Given the description of an element on the screen output the (x, y) to click on. 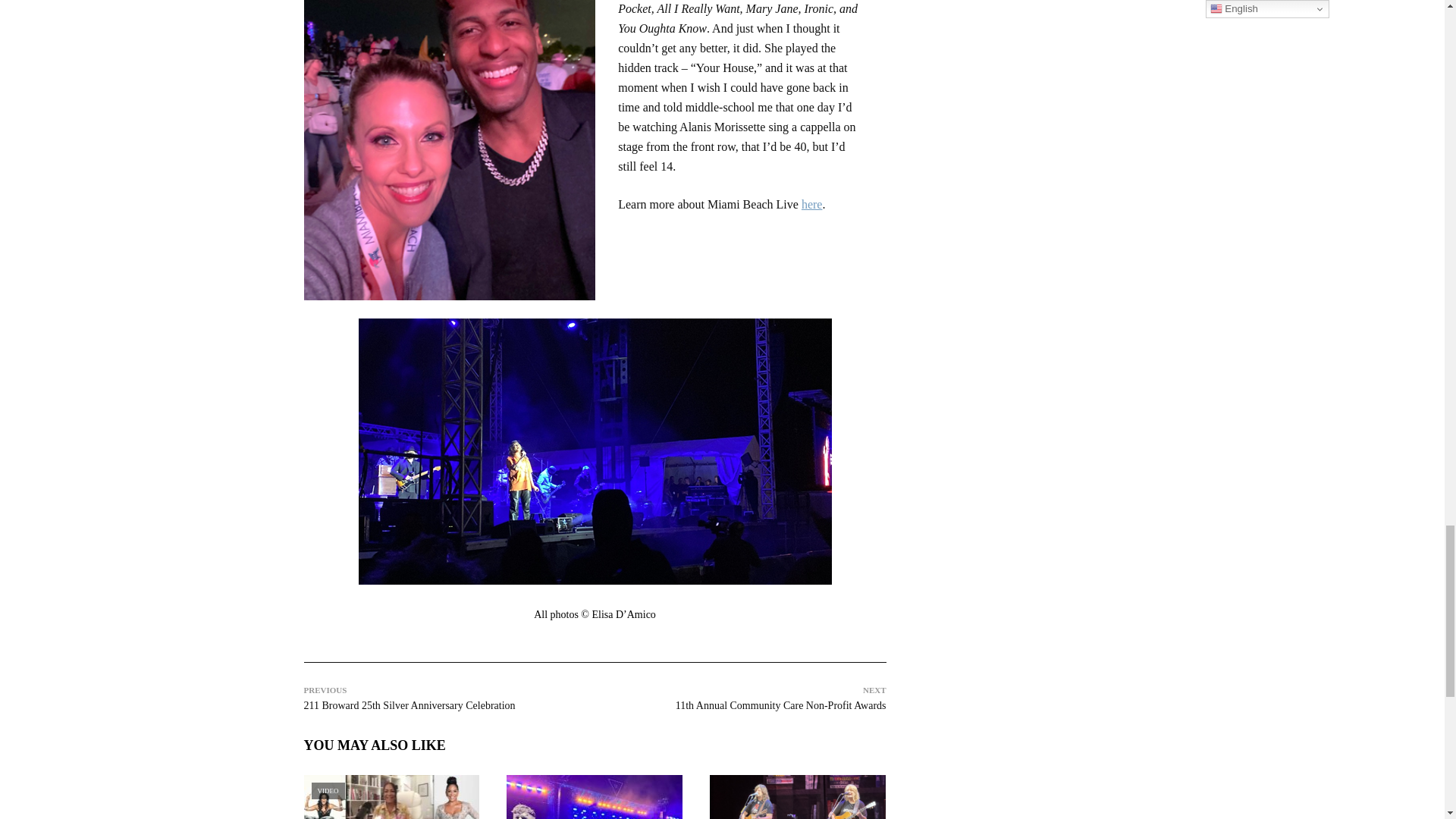
Christina Hammoud one on one with Sheila E. (390, 796)
